Given the description of an element on the screen output the (x, y) to click on. 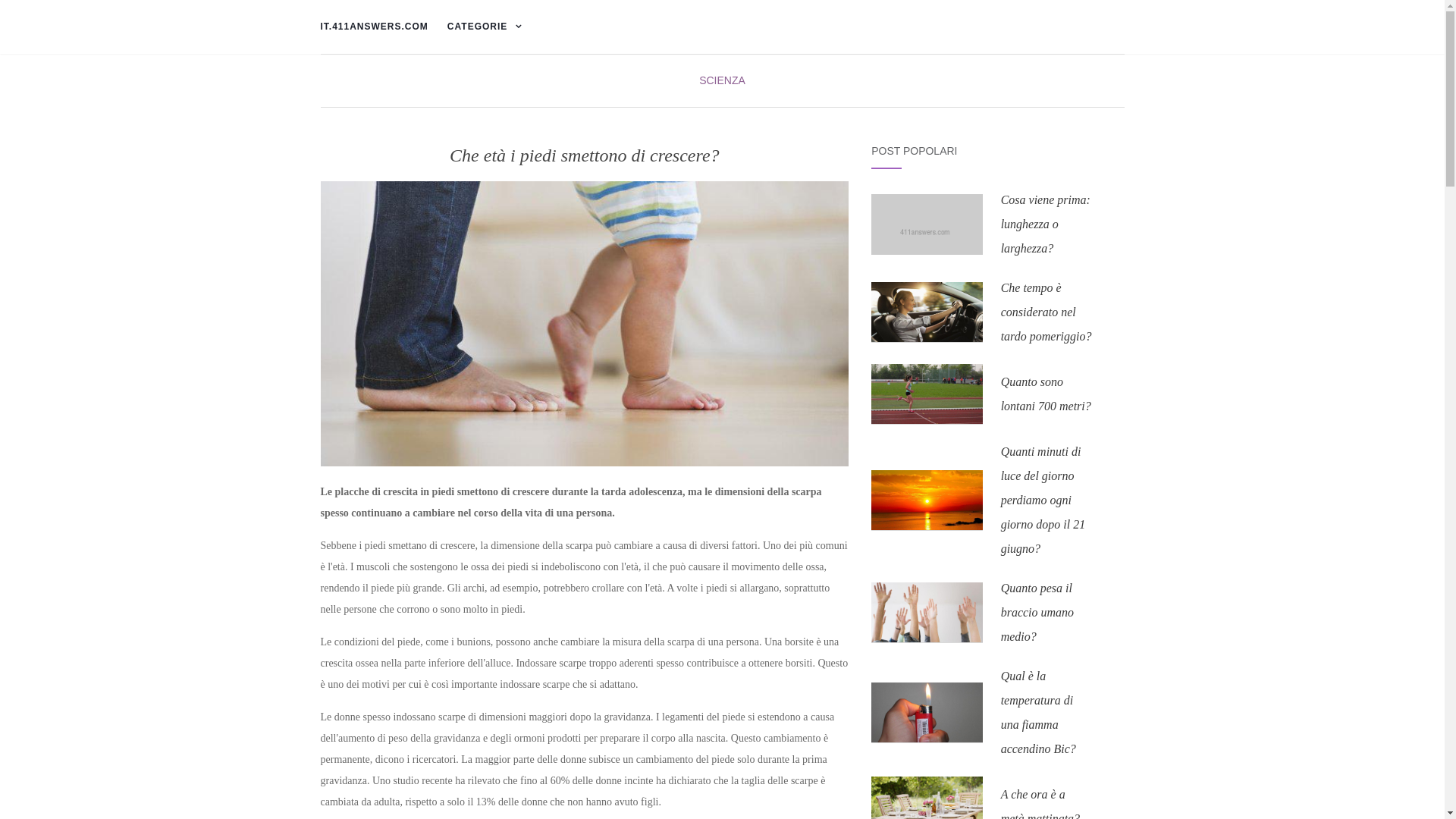
Quanto sono lontani 700 metri? Element type: text (1046, 393)
Cosa viene prima: lunghezza o larghezza? Element type: text (1045, 223)
Quanto pesa il braccio umano medio? Element type: text (1037, 612)
CATEGORIE Element type: text (488, 26)
IT.411ANSWERS.COM Element type: text (373, 26)
SCIENZA Element type: text (722, 80)
